Given the description of an element on the screen output the (x, y) to click on. 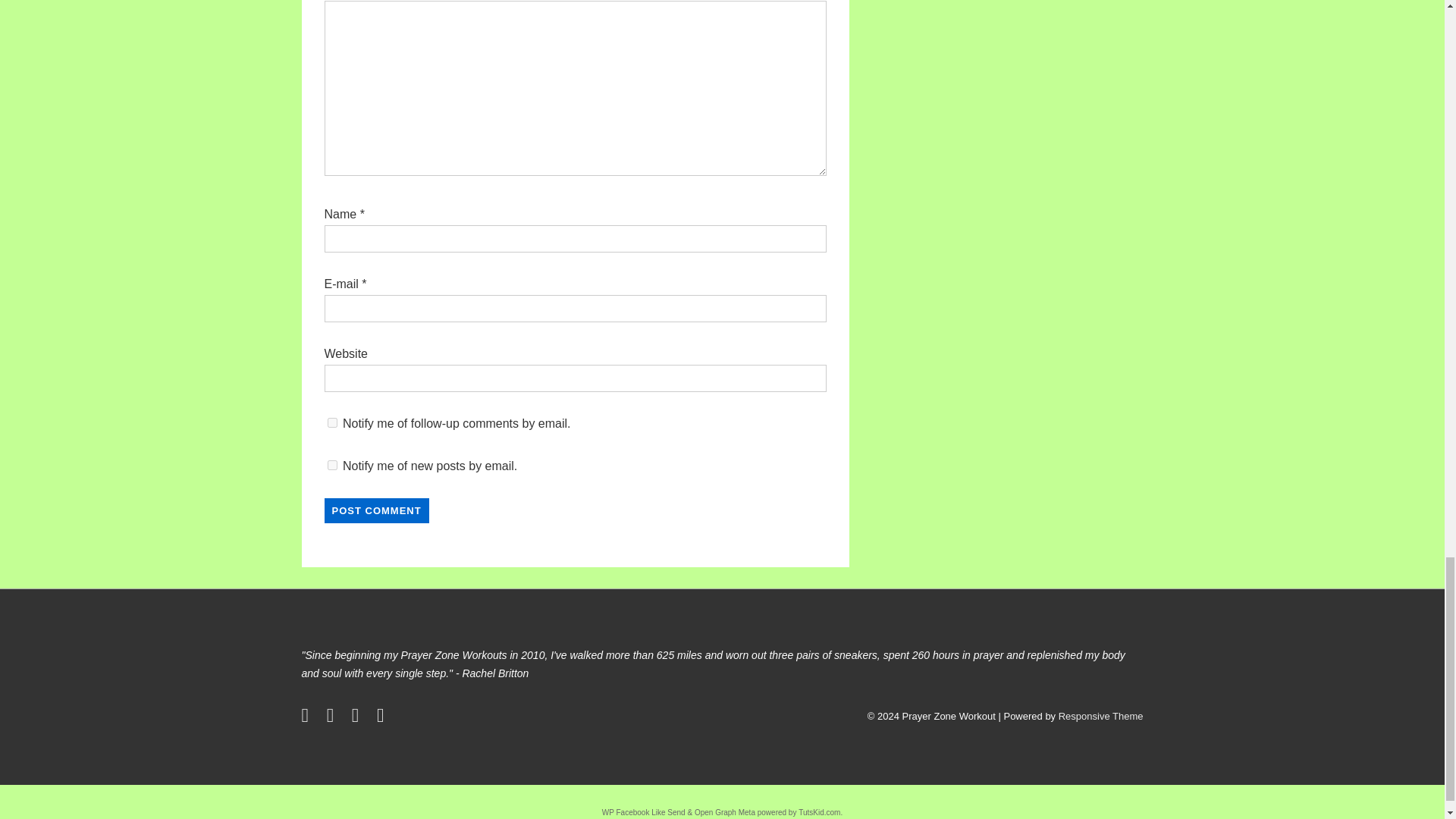
youtube (358, 717)
subscribe (332, 465)
facebook (333, 717)
twitter (308, 717)
subscribe (332, 422)
Post Comment (376, 510)
instagram (382, 717)
Post Comment (376, 510)
Responsive Theme (1100, 715)
